Given the description of an element on the screen output the (x, y) to click on. 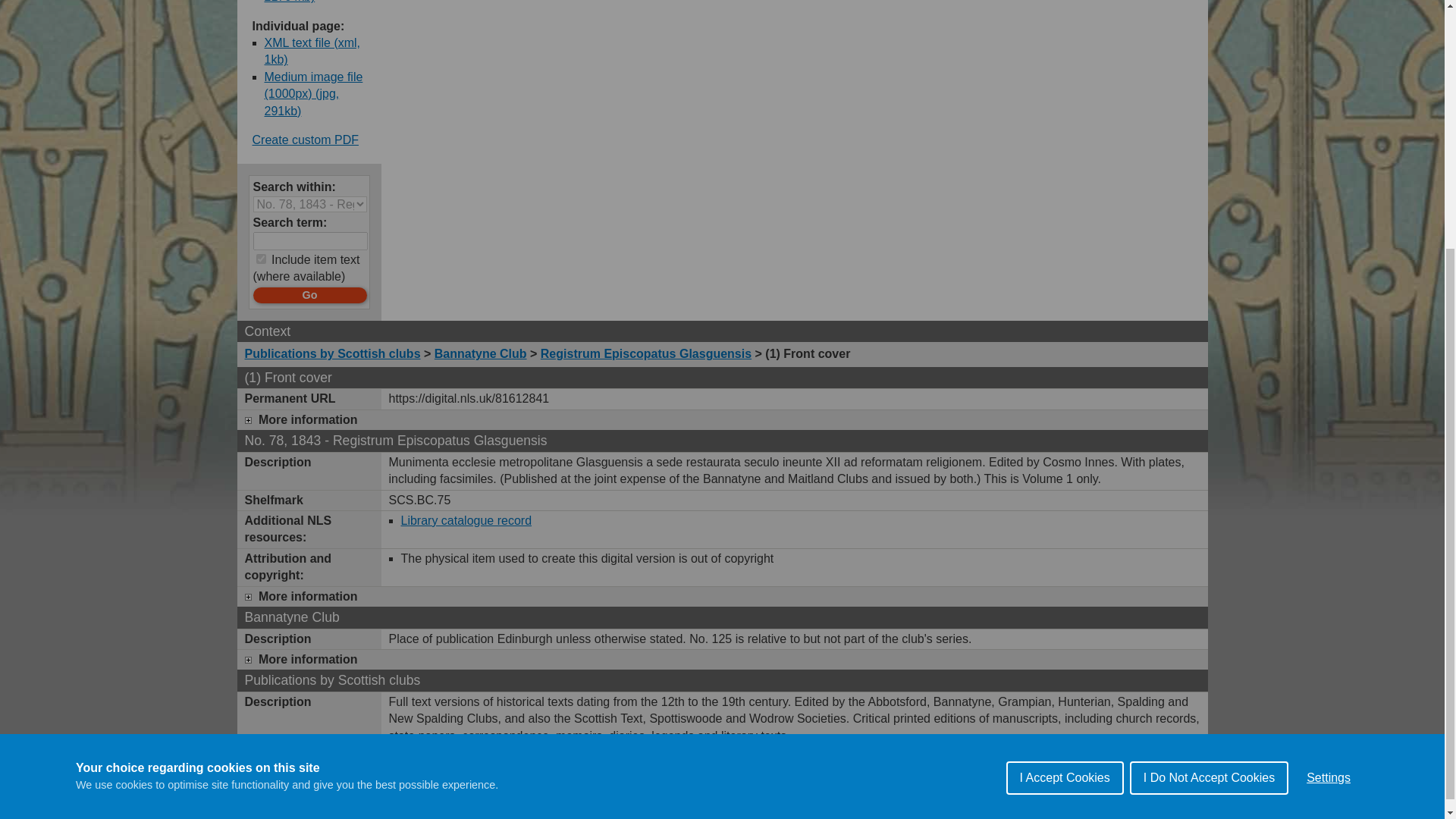
Leave feedback about this page (648, 809)
I Accept Cookies (1065, 507)
Registrum Episcopatus Glasguensis (645, 353)
Create custom PDF (304, 139)
View our takedown policy (812, 809)
Library catalogue record (465, 520)
Bannatyne Club (480, 353)
on (261, 258)
Go (309, 294)
Go (309, 294)
Publications by Scottish clubs (332, 353)
